Given the description of an element on the screen output the (x, y) to click on. 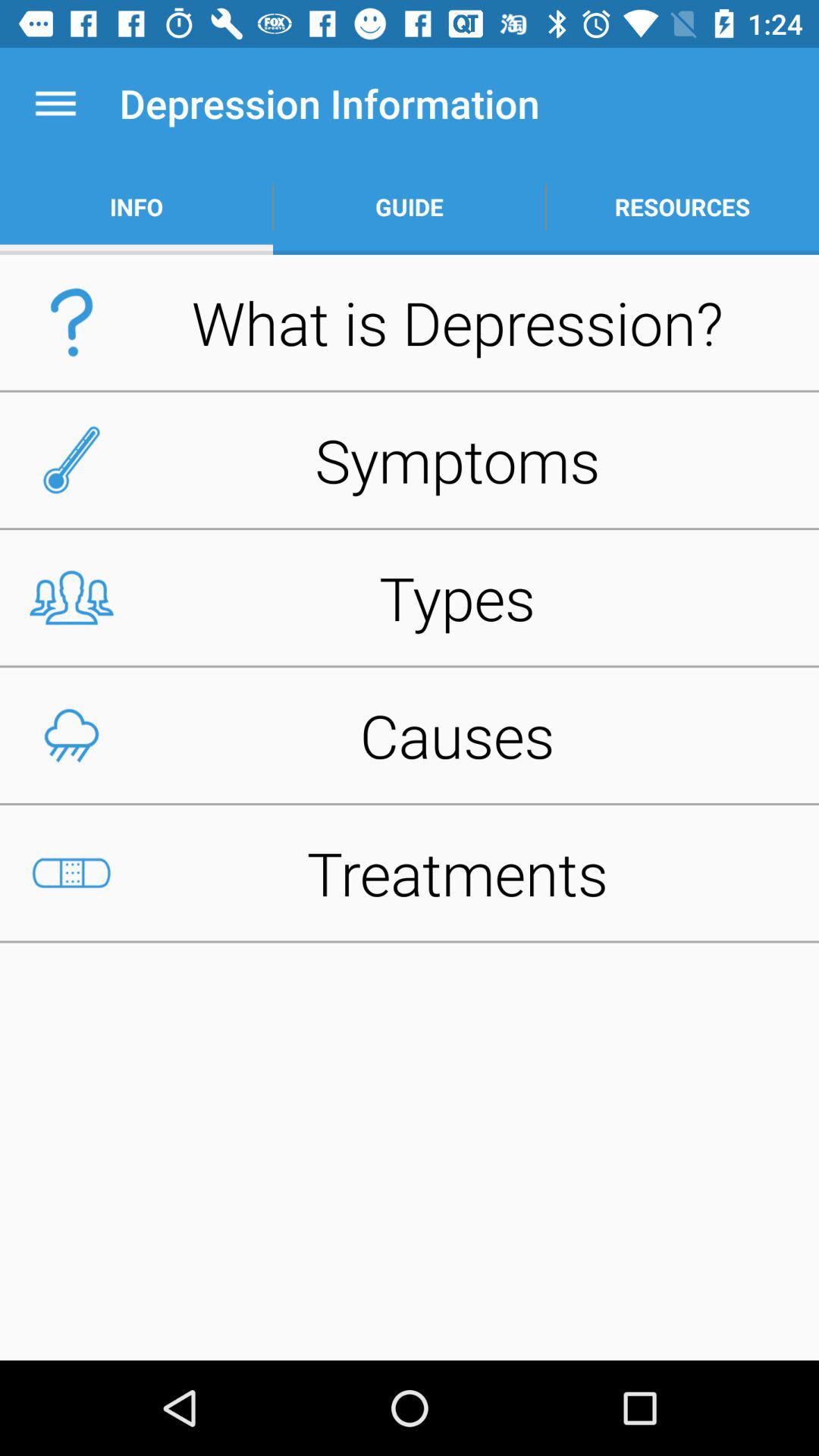
launch icon next to the depression information icon (55, 103)
